Given the description of an element on the screen output the (x, y) to click on. 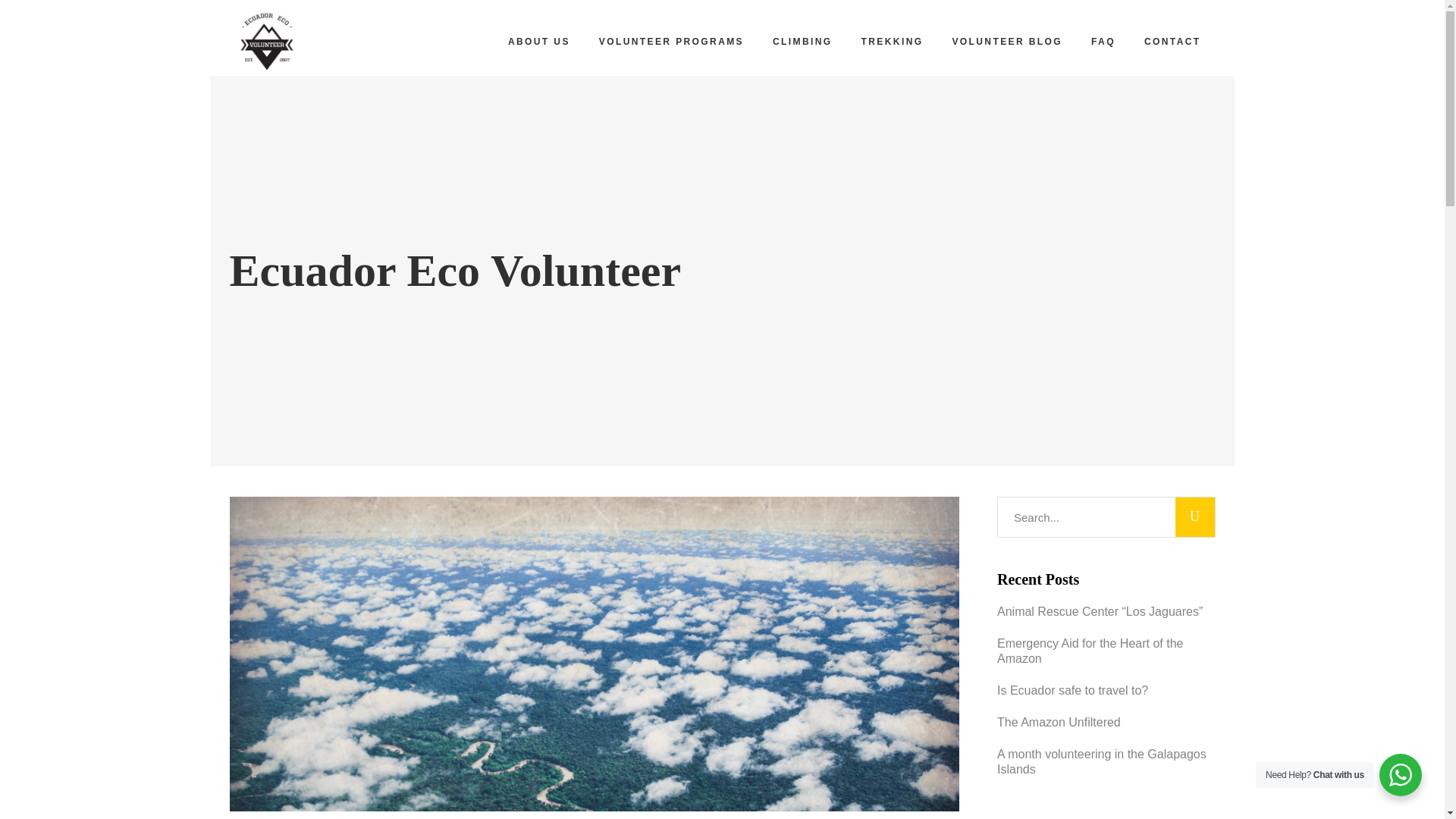
TREKKING (892, 41)
VOLUNTEER PROGRAMS (671, 41)
ABOUT US (539, 41)
VOLUNTEER BLOG (1007, 41)
CONTACT (1172, 41)
CLIMBING (802, 41)
Search for: (1085, 517)
